Given the description of an element on the screen output the (x, y) to click on. 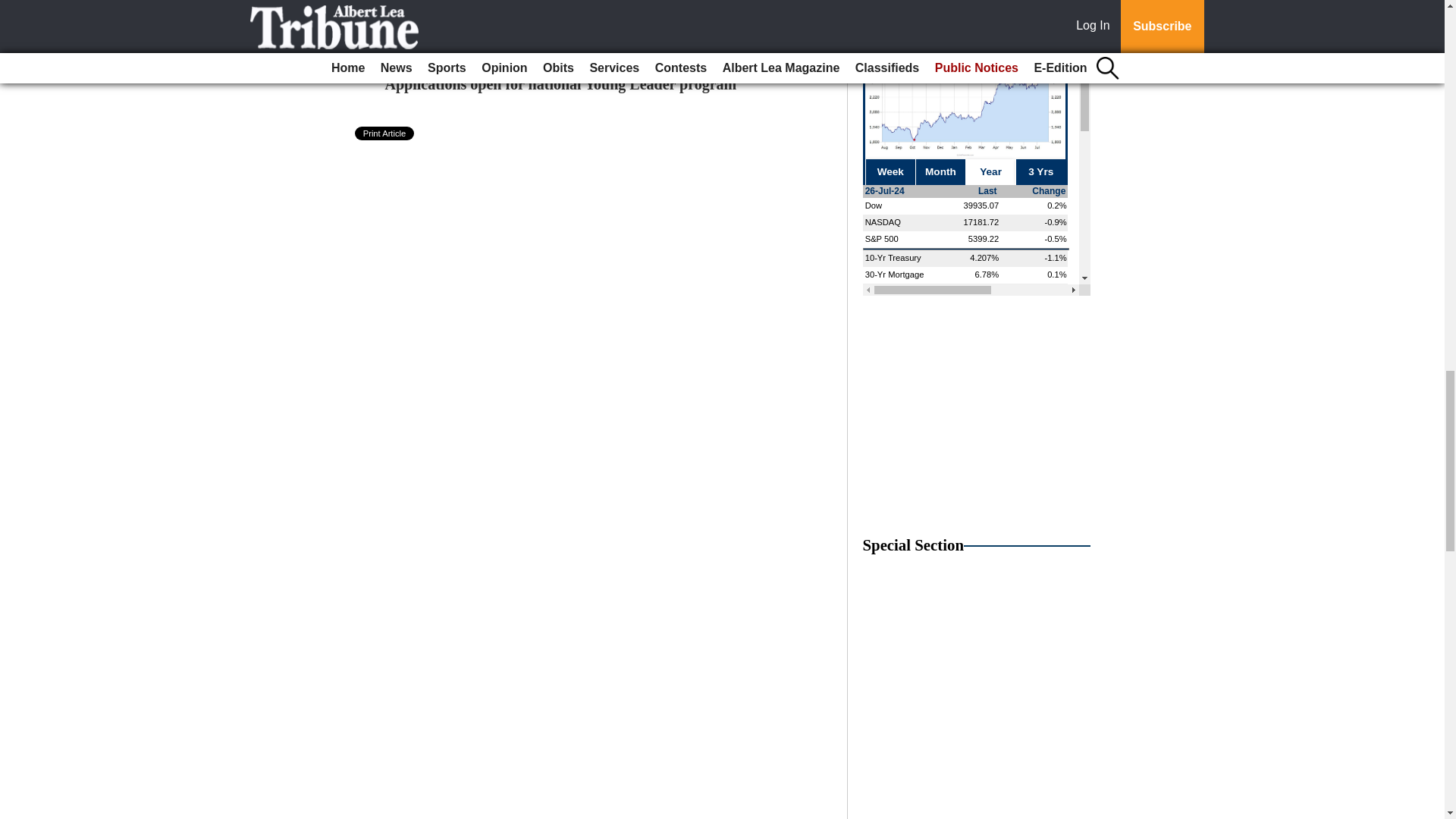
US Market Update (976, 147)
Applications open for national Young Leader program (560, 84)
